Given the description of an element on the screen output the (x, y) to click on. 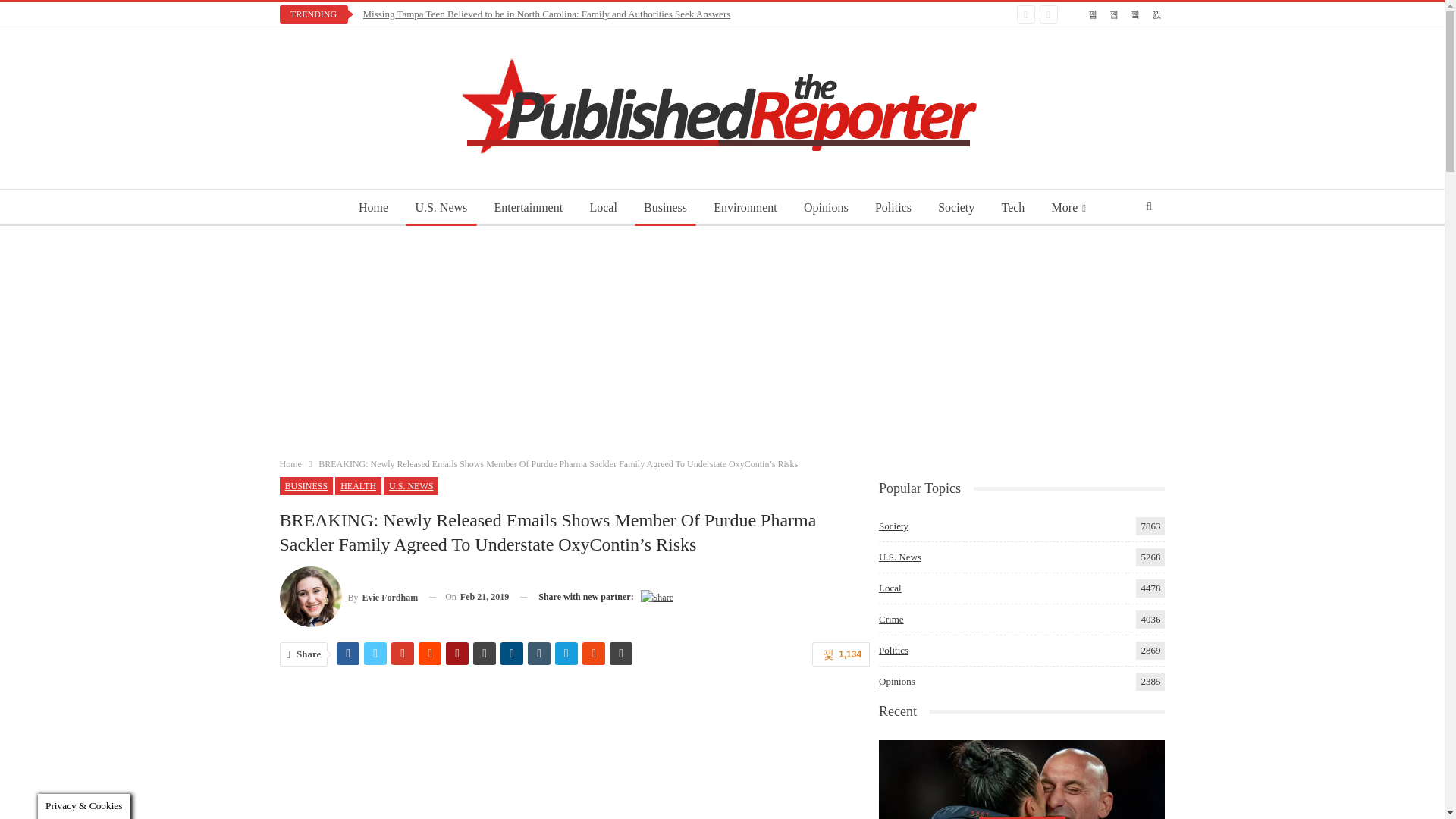
Opinions (825, 207)
Business (664, 207)
Local (602, 207)
Environment (745, 207)
U.S. News (441, 207)
Home (373, 207)
Society (956, 207)
Politics (893, 207)
Browse Author Articles (348, 597)
Advertisement (574, 753)
Tech (1012, 207)
Entertainment (528, 207)
More (1068, 207)
